Given the description of an element on the screen output the (x, y) to click on. 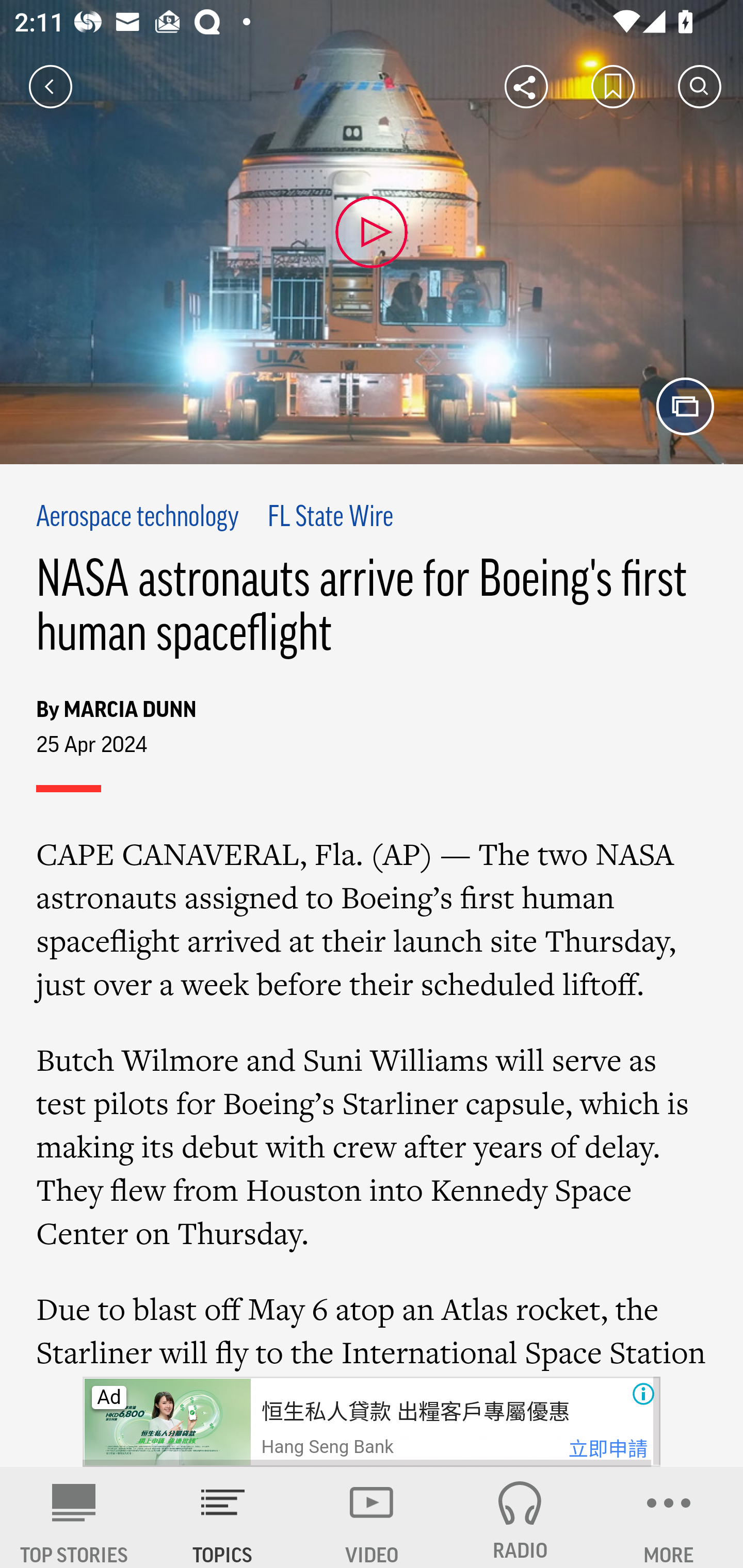
Aerospace technology (137, 518)
FL State Wire (331, 518)
恒生私人貸款 出糧客戶專屬優惠 (414, 1411)
Hang Seng Bank (326, 1447)
立即申請 (607, 1449)
AP News TOP STORIES (74, 1517)
TOPICS (222, 1517)
VIDEO (371, 1517)
RADIO (519, 1517)
MORE (668, 1517)
